Given the description of an element on the screen output the (x, y) to click on. 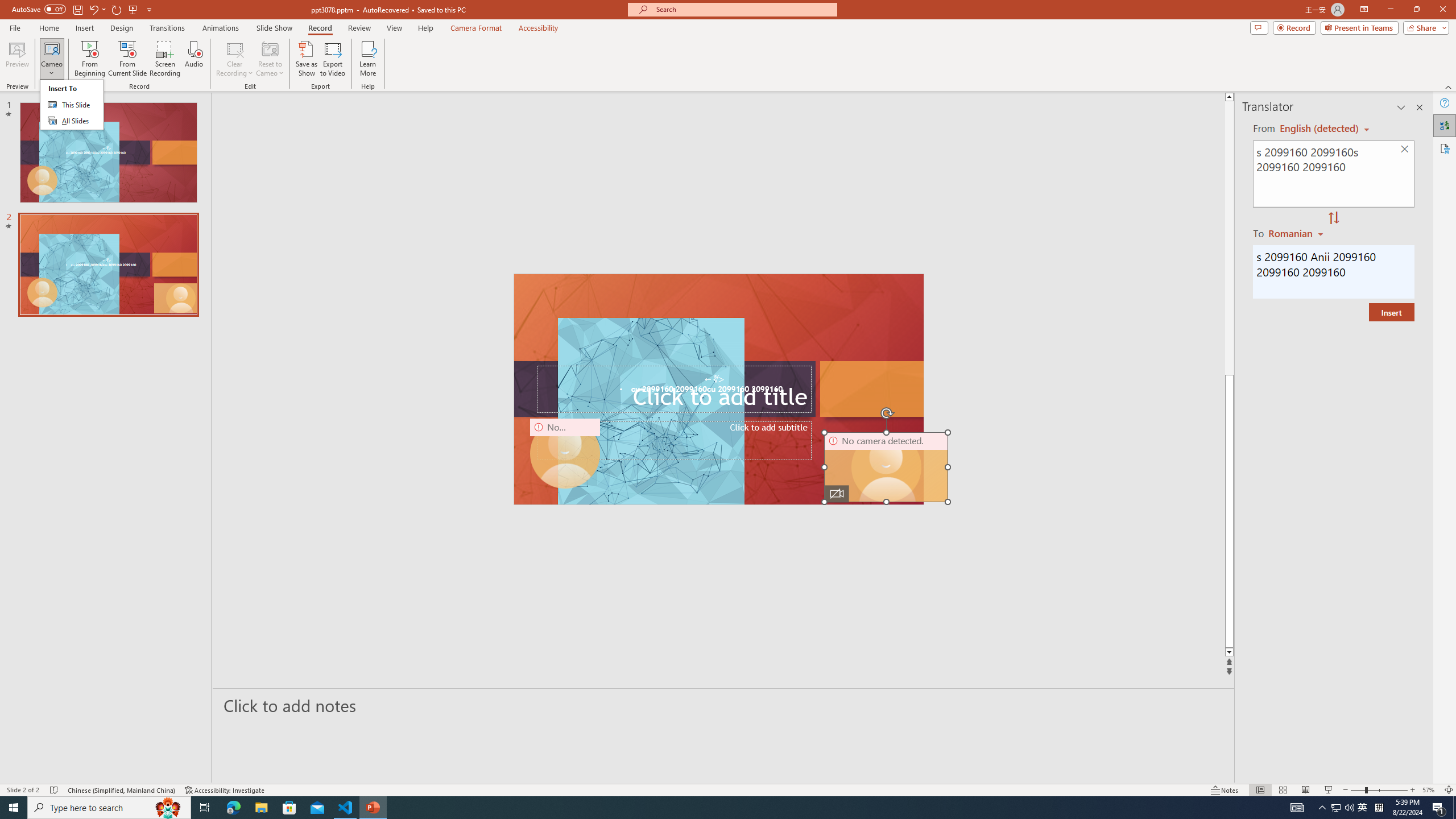
From Current Slide... (127, 58)
Camera 9, No camera detected. (564, 453)
